Given the description of an element on the screen output the (x, y) to click on. 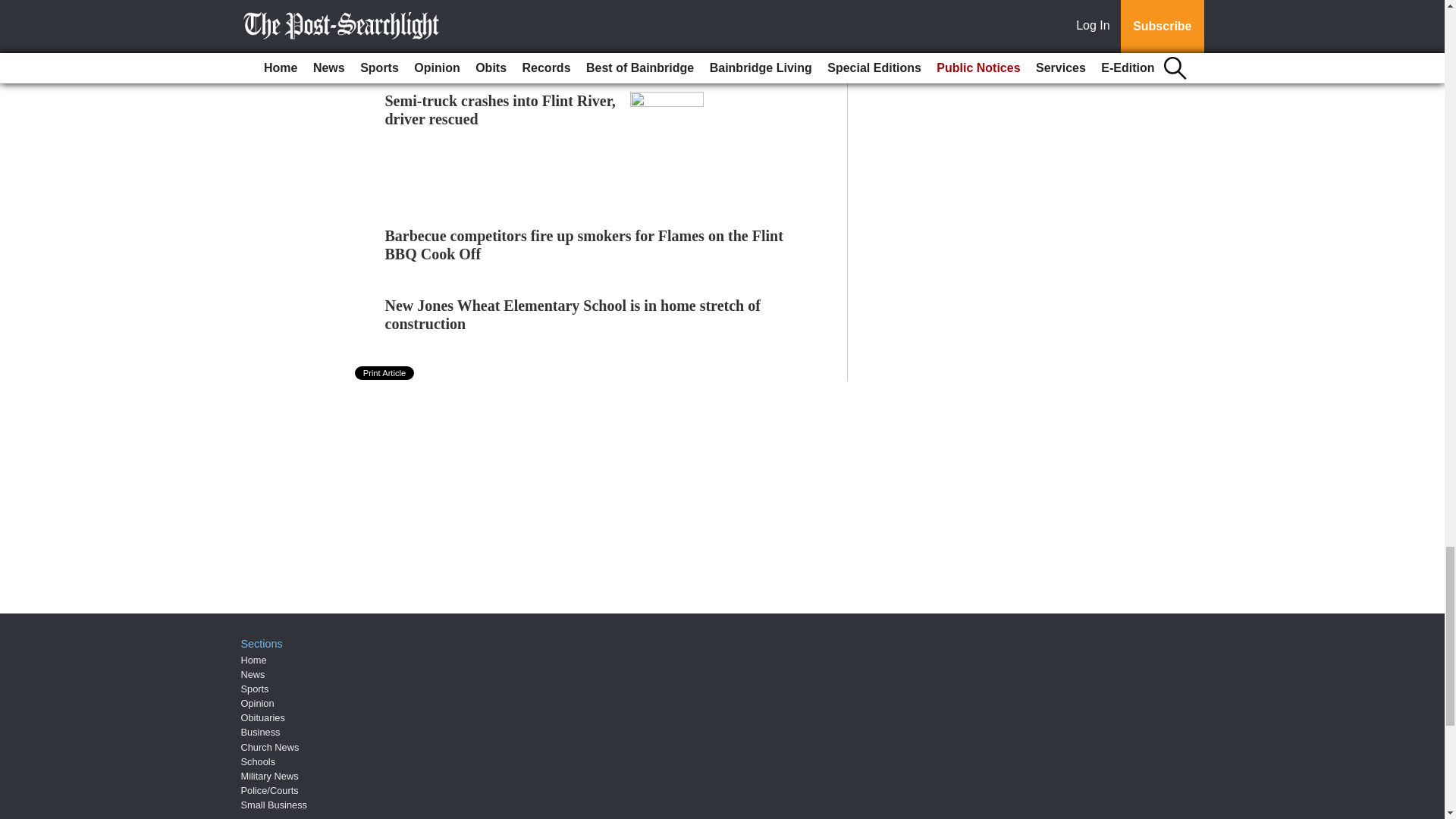
Semi-truck crashes into Flint River, driver rescued (500, 109)
